Given the description of an element on the screen output the (x, y) to click on. 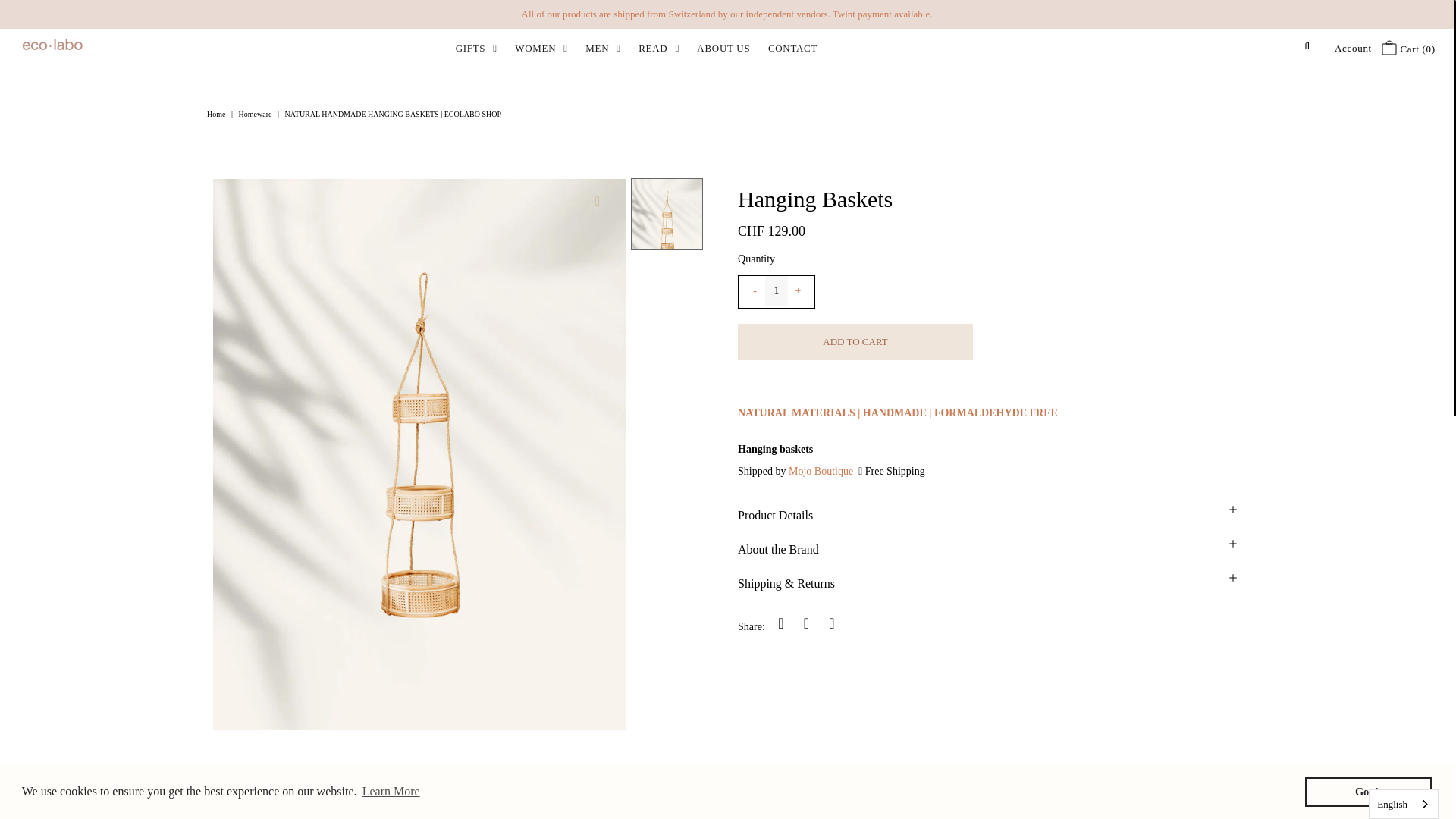
Add to Cart (855, 341)
Learn More (390, 791)
Homeware (257, 113)
click to zoom-in (601, 202)
Home (217, 113)
Got it (1367, 791)
